Given the description of an element on the screen output the (x, y) to click on. 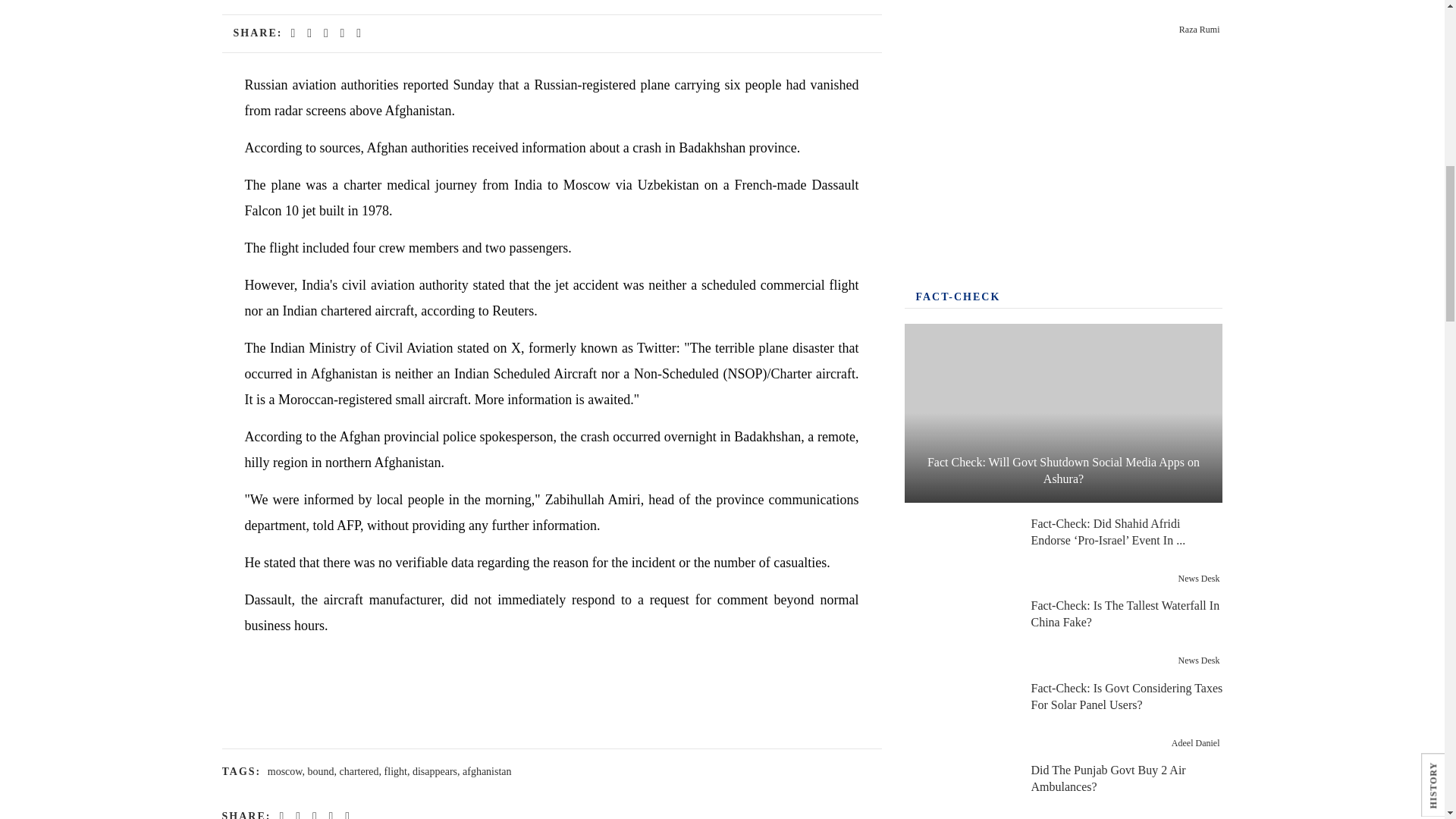
A Coup That Failed (959, 18)
Fact-Check: Is The Tallest Waterfall In China Fake? (959, 632)
Fact Check: Will Govt Shutdown Social Media Apps on Ashura? (1063, 412)
Fact-Check: Is Govt Considering Taxes For Solar Panel Users? (959, 715)
Did The Punjab Govt Buy 2 Air Ambulances? (959, 791)
